Given the description of an element on the screen output the (x, y) to click on. 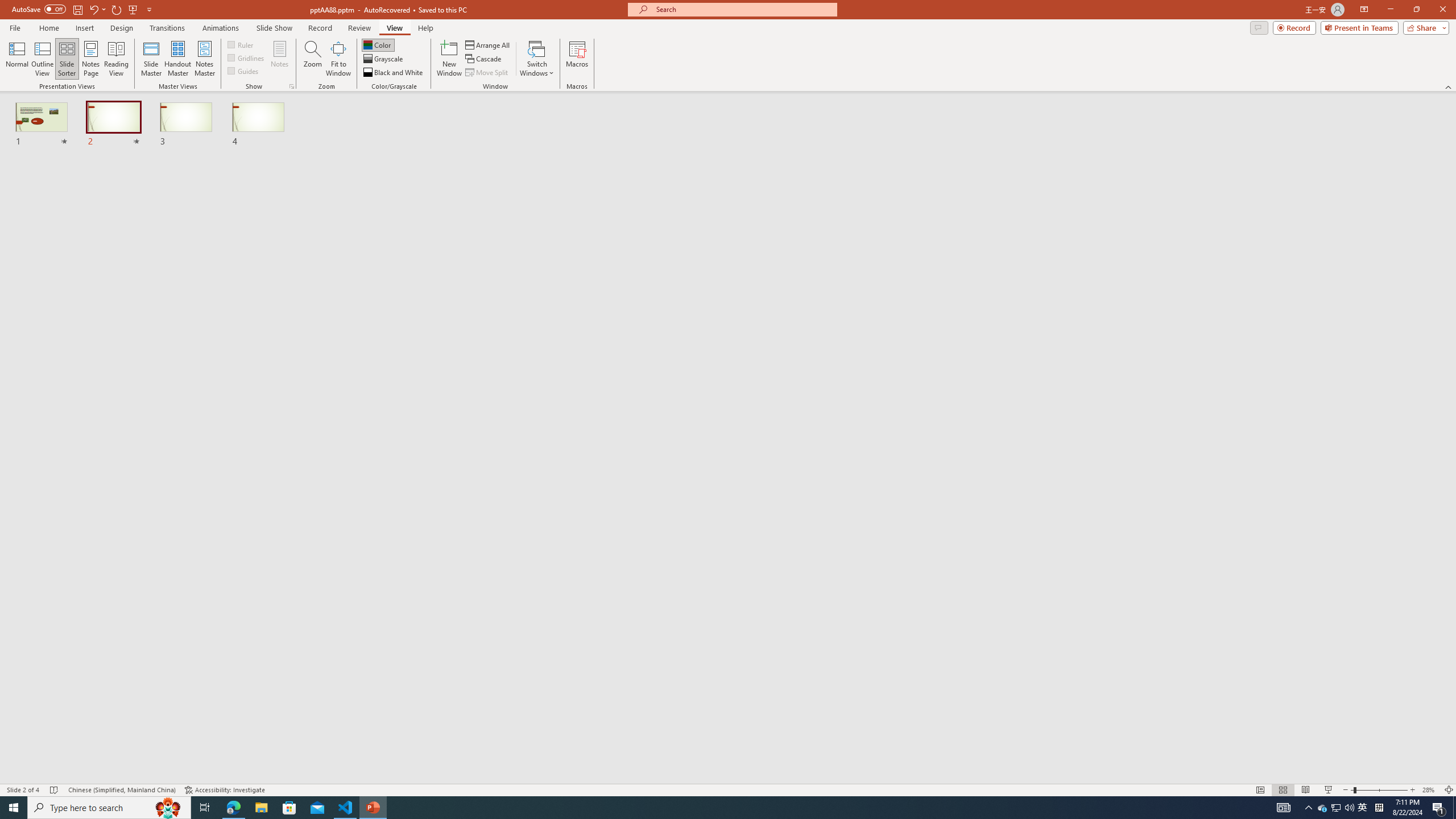
Notes Page (90, 58)
Black and White (393, 72)
Ruler (241, 44)
Gridlines (246, 56)
Outline View (42, 58)
Grayscale (383, 58)
